Given the description of an element on the screen output the (x, y) to click on. 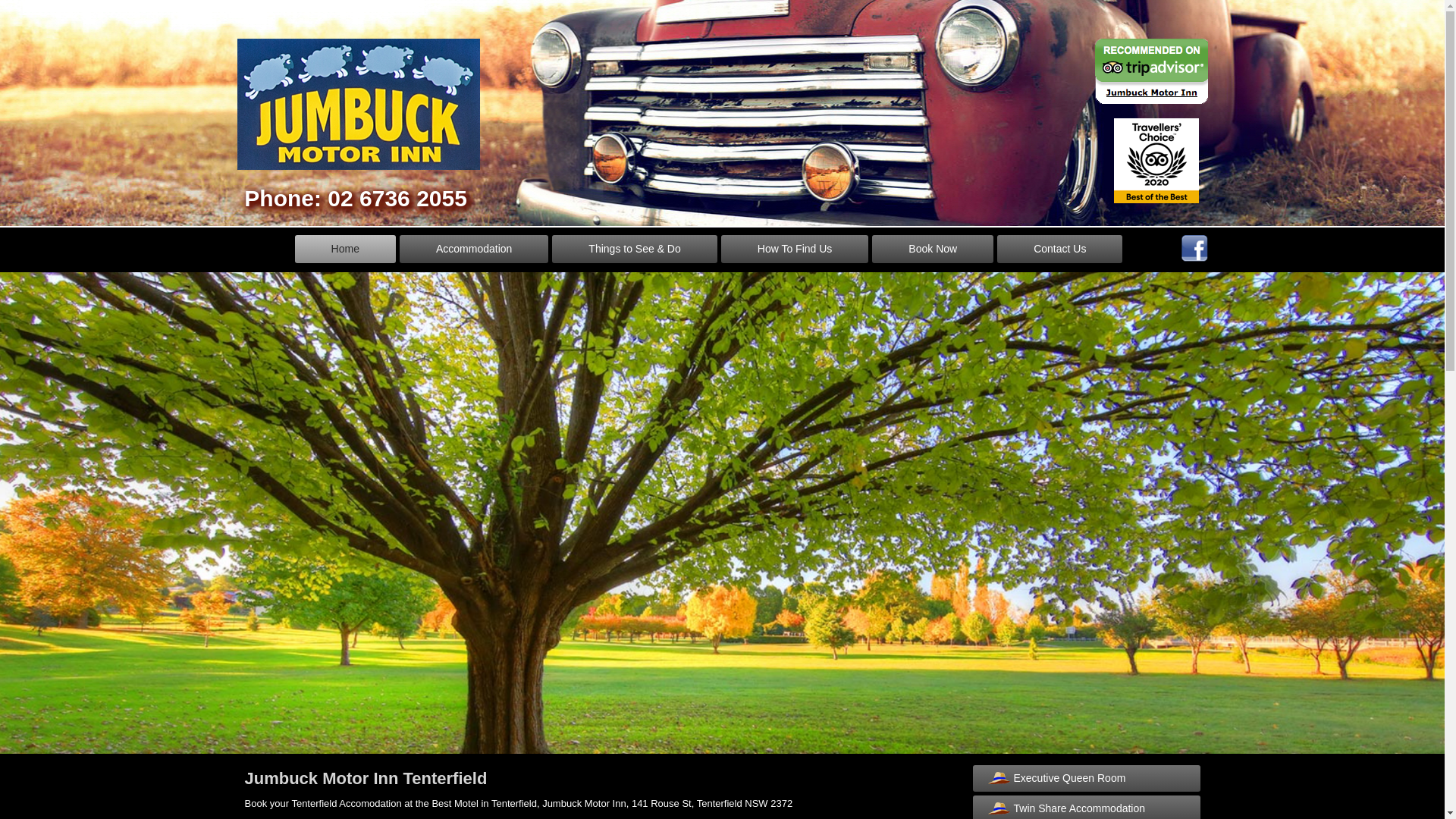
Jumbuck Motor Inn Tenterfield Element type: text (365, 777)
How To Find Us Element type: text (795, 249)
Executive Queen Room Element type: text (1085, 778)
Accommodation Element type: text (473, 249)
Contact Us Element type: text (1059, 249)
Book Now Element type: text (932, 249)
Things to See & Do Element type: text (634, 249)
Home Element type: text (344, 249)
Trip Advisor Element type: hover (1151, 70)
